Given the description of an element on the screen output the (x, y) to click on. 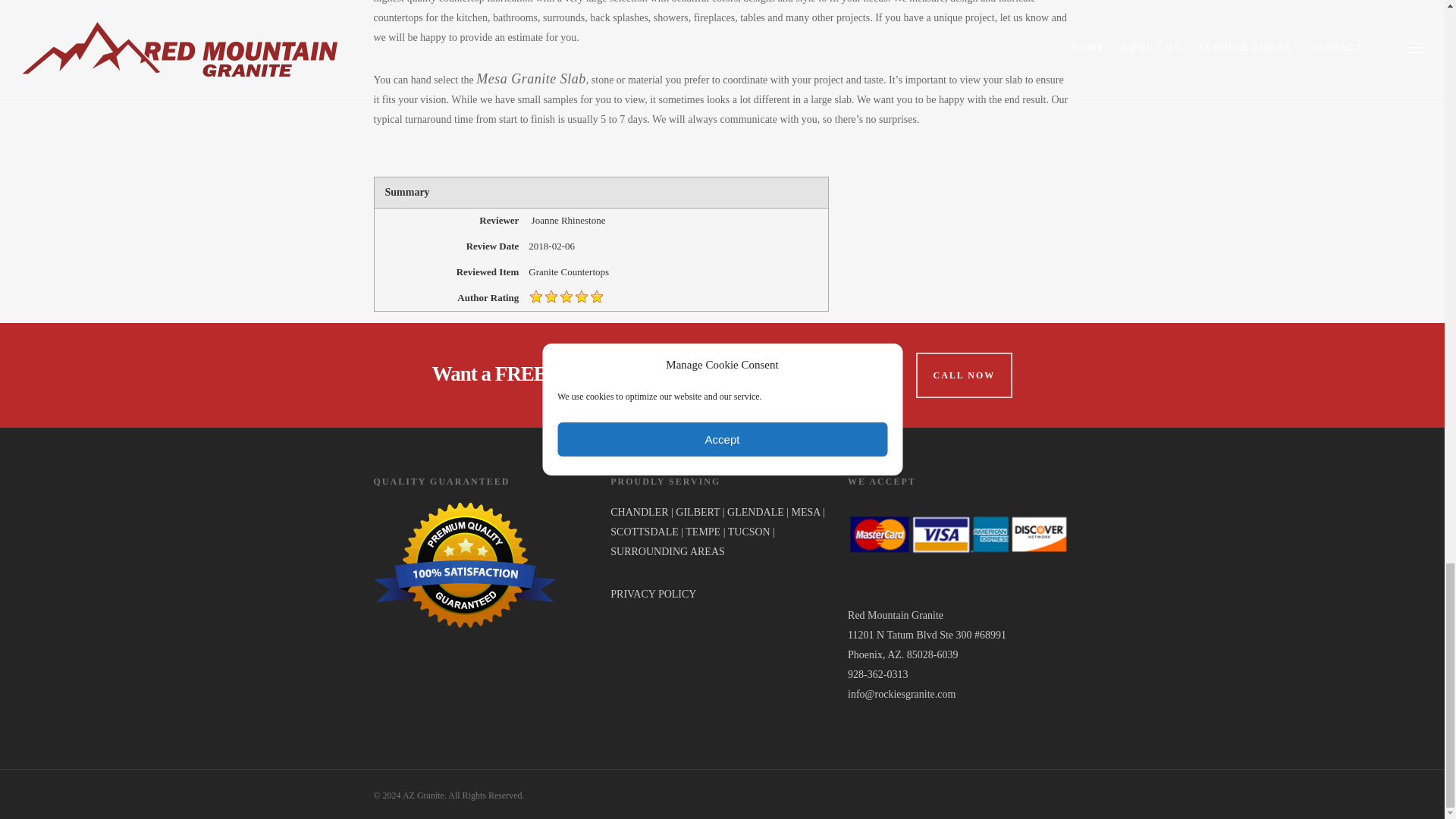
PRIVACY POLICY (652, 593)
CALL NOW (964, 375)
Red Mountain Granite (895, 614)
